Given the description of an element on the screen output the (x, y) to click on. 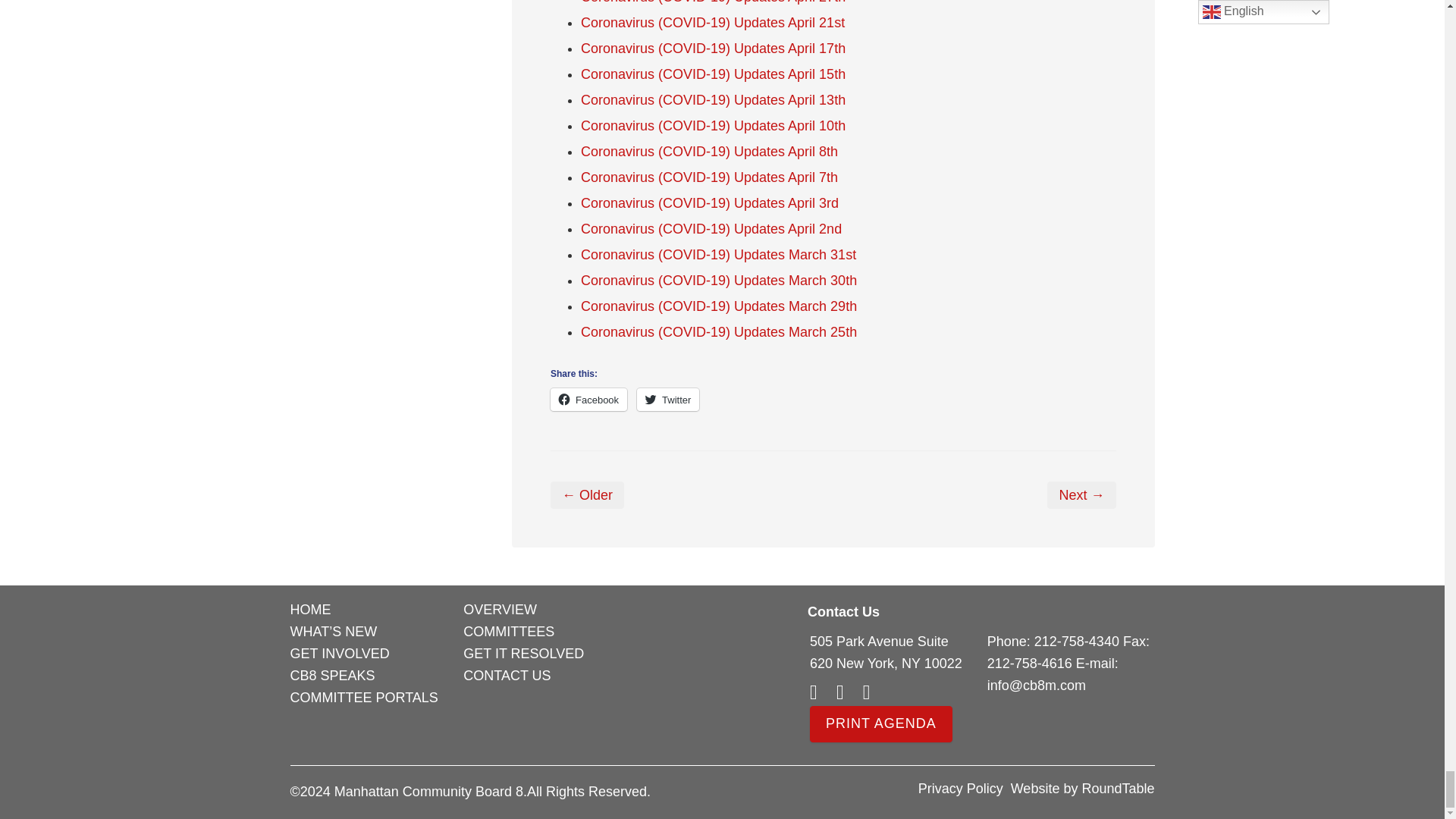
Click to share on Facebook (588, 399)
Printer Friendly and PDF (880, 725)
Click to share on Twitter (667, 399)
